Given the description of an element on the screen output the (x, y) to click on. 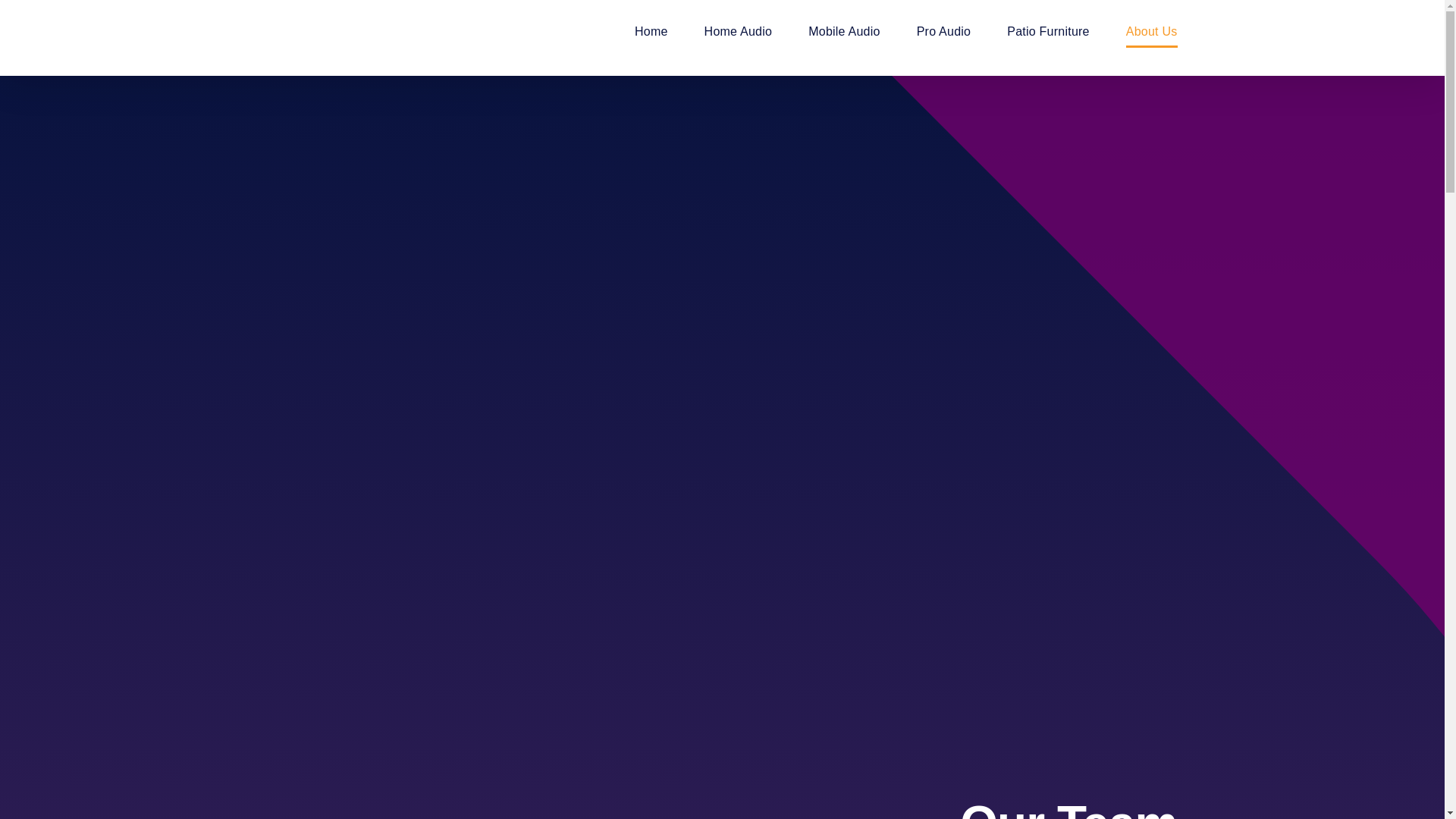
Home Audio (738, 31)
Patio Furniture (1048, 31)
Mobile Audio (844, 31)
